Given the description of an element on the screen output the (x, y) to click on. 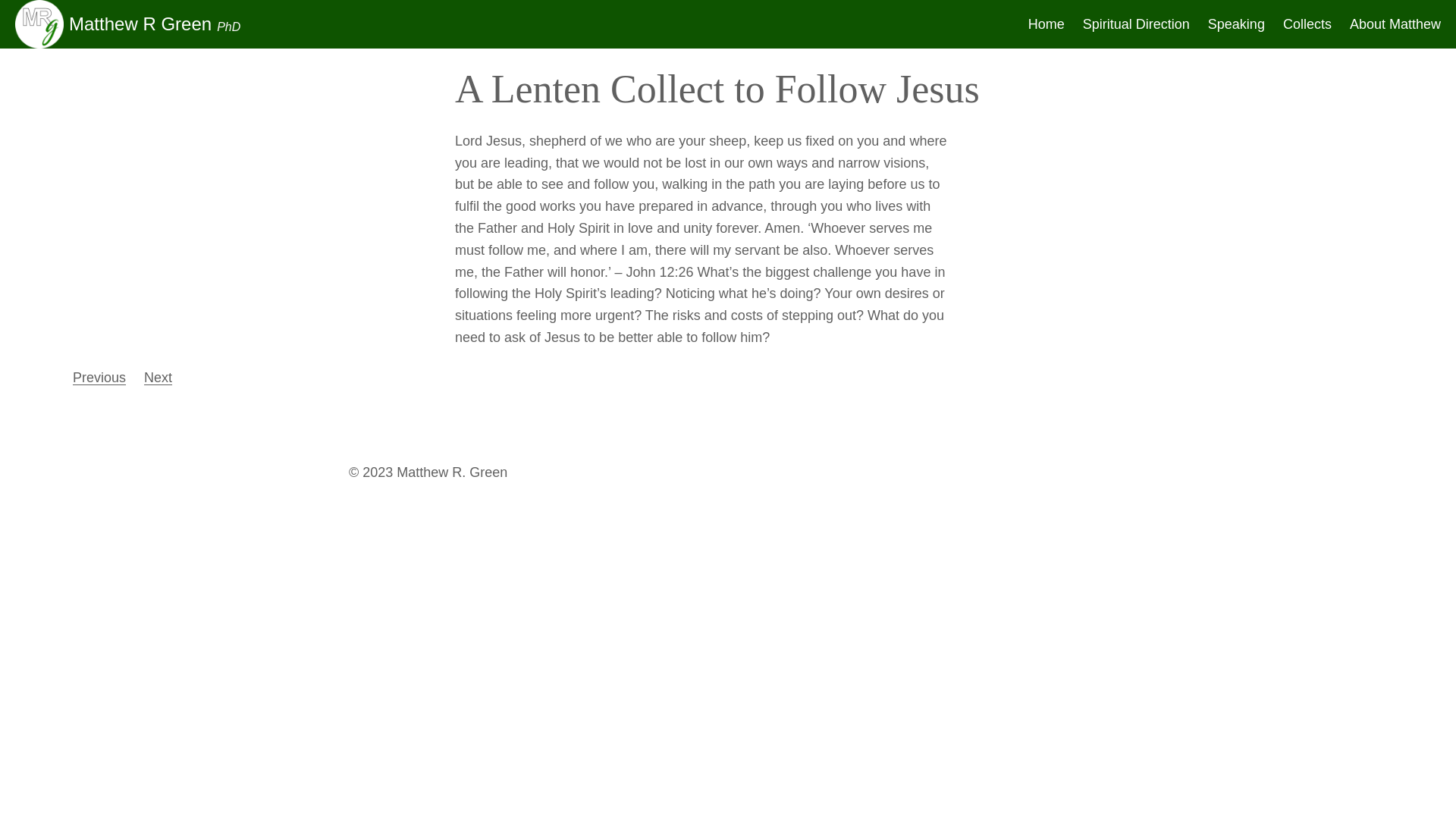
Next (157, 377)
Spiritual Direction (1136, 24)
Home (1045, 24)
Previous (98, 377)
Speaking (1236, 24)
About Matthew (1395, 24)
Collects (1307, 24)
